Given the description of an element on the screen output the (x, y) to click on. 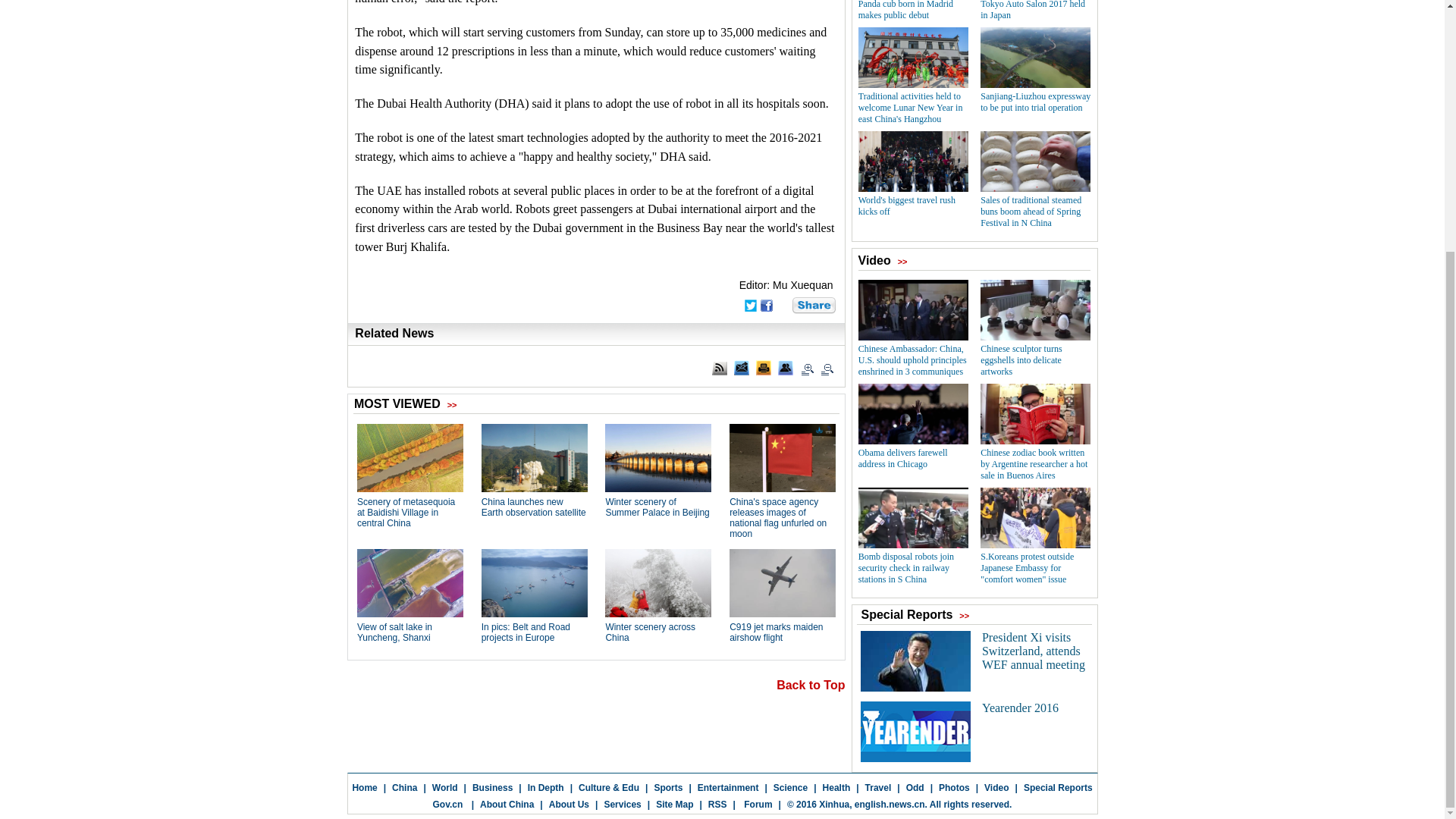
More (813, 305)
